Given the description of an element on the screen output the (x, y) to click on. 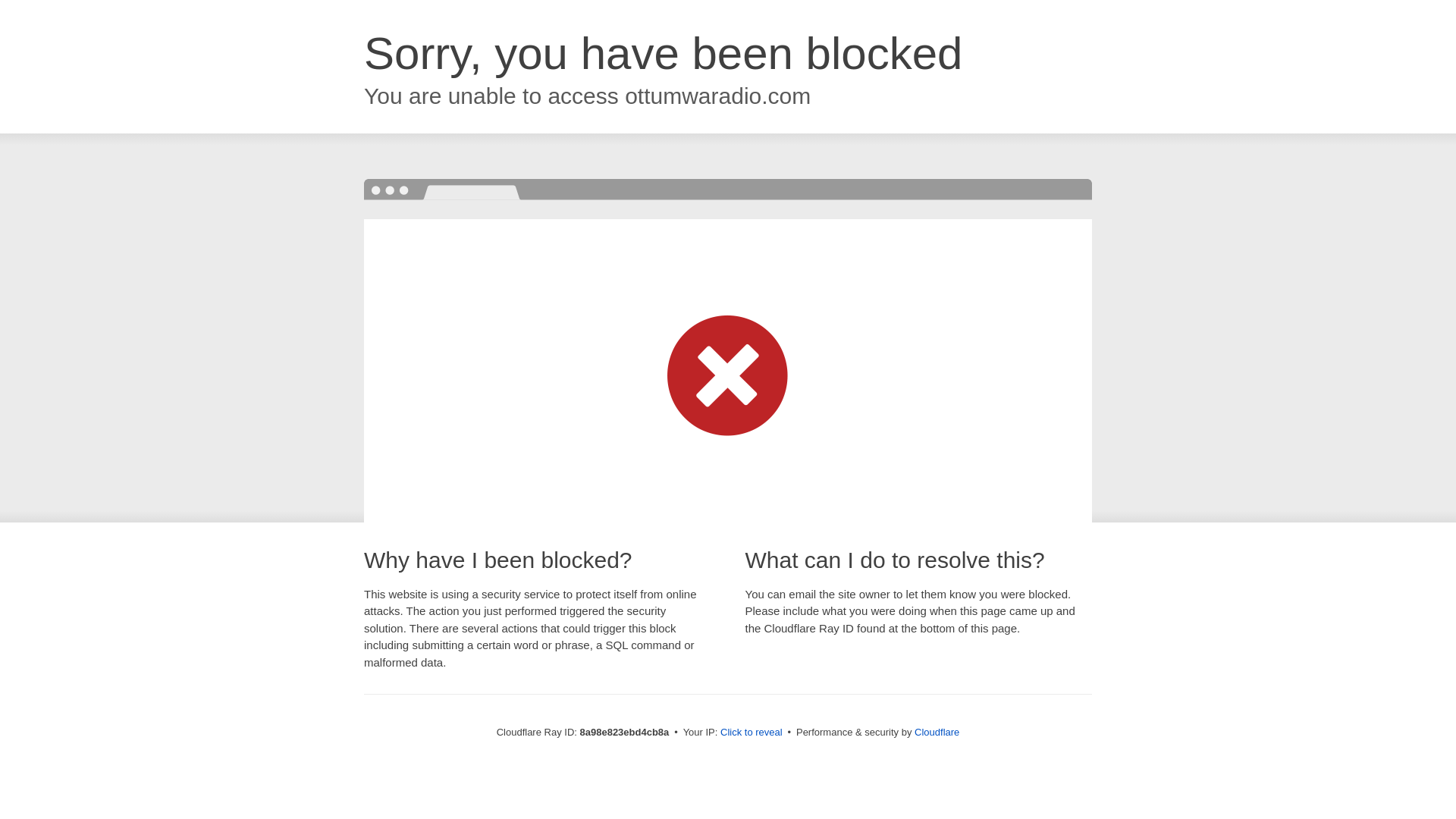
Click to reveal (751, 732)
Cloudflare (936, 731)
